Given the description of an element on the screen output the (x, y) to click on. 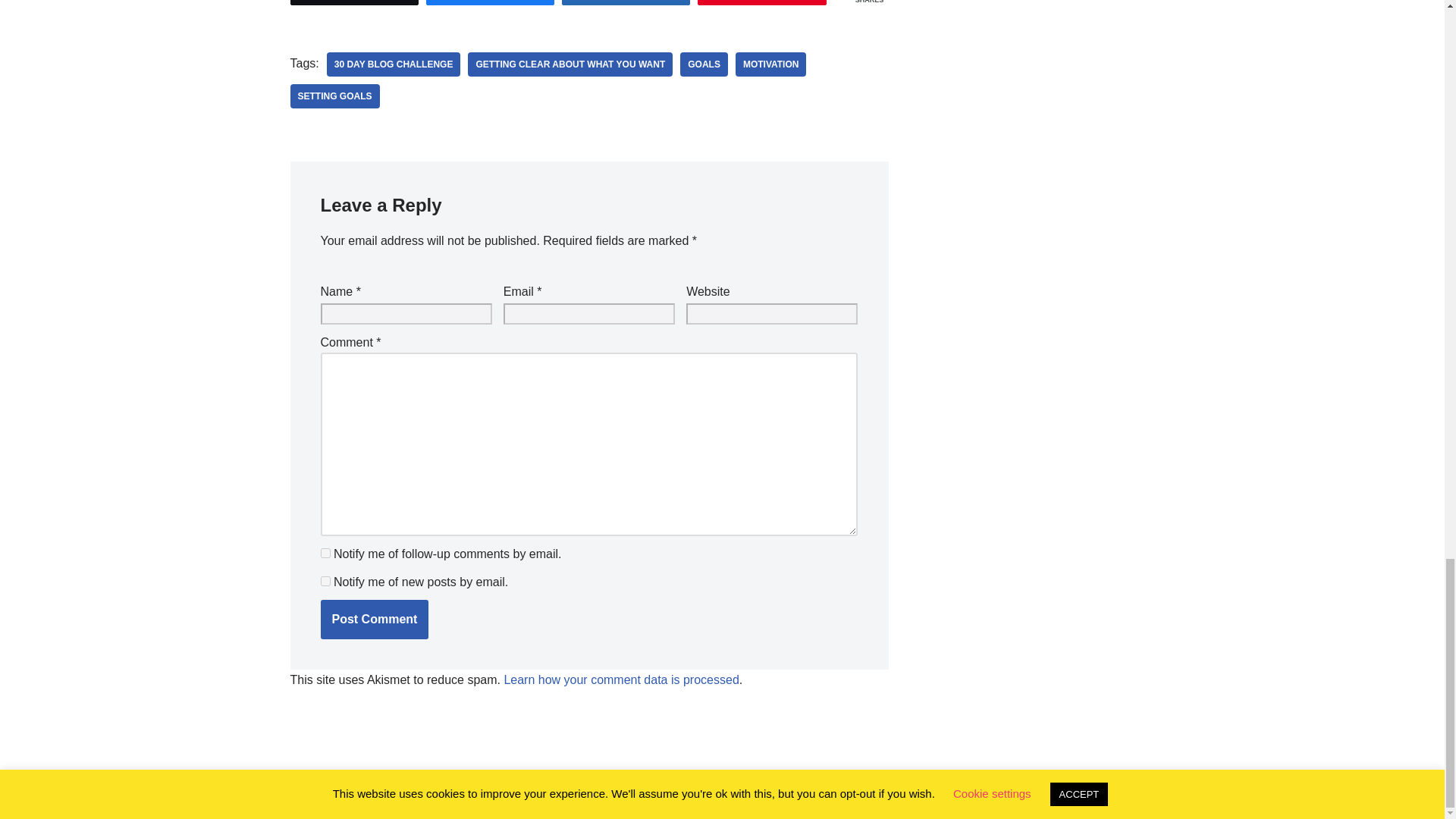
subscribe (325, 552)
goals (703, 64)
30 day blog challenge (393, 64)
subscribe (325, 581)
getting clear about what you want (569, 64)
Post Comment (374, 619)
